Given the description of an element on the screen output the (x, y) to click on. 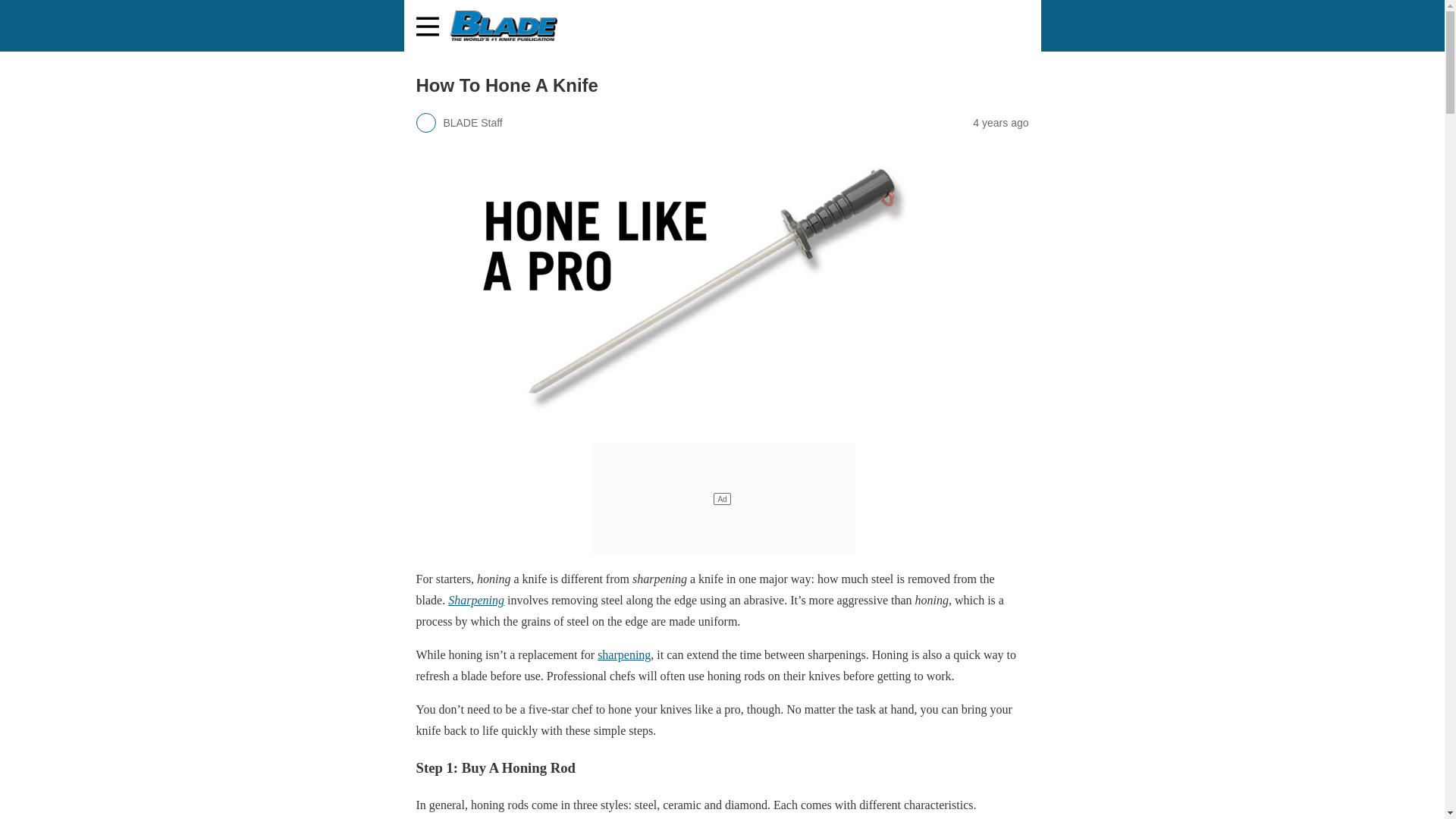
sharpening (623, 654)
Sharpening (475, 599)
